Given the description of an element on the screen output the (x, y) to click on. 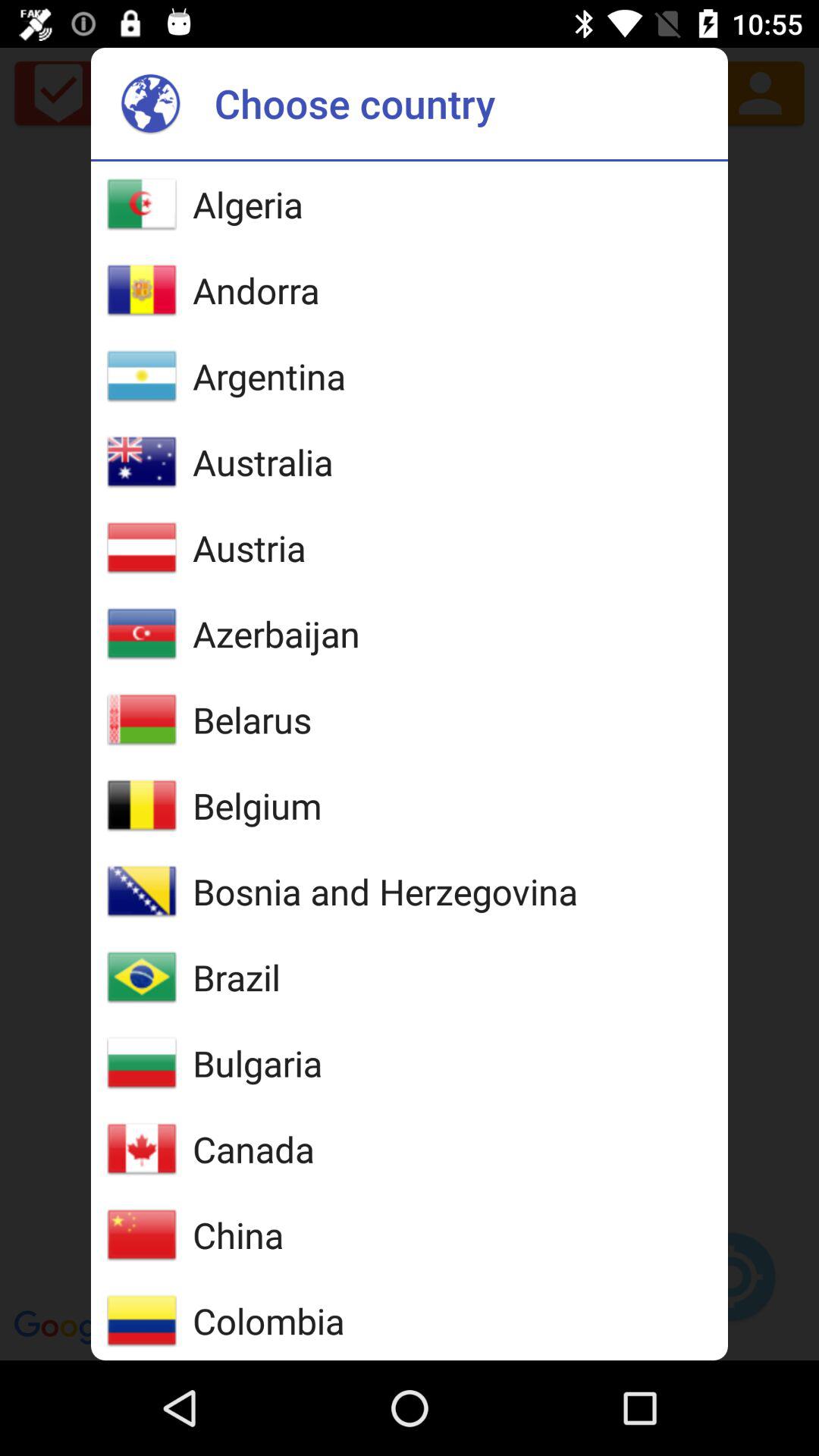
select the belarus item (251, 719)
